Given the description of an element on the screen output the (x, y) to click on. 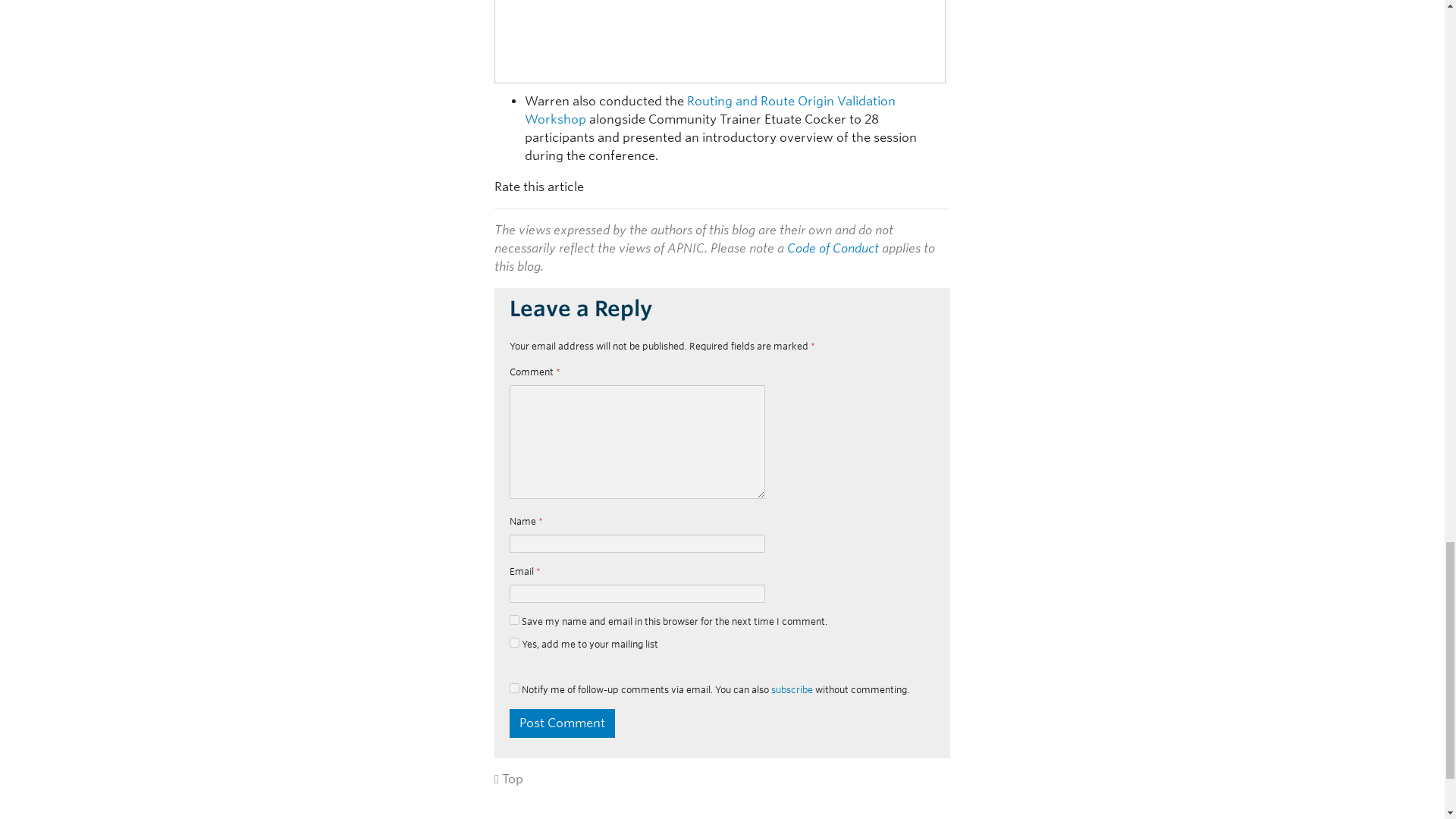
yes (514, 619)
yes (514, 687)
Post Comment (561, 723)
1 (514, 642)
